Given the description of an element on the screen output the (x, y) to click on. 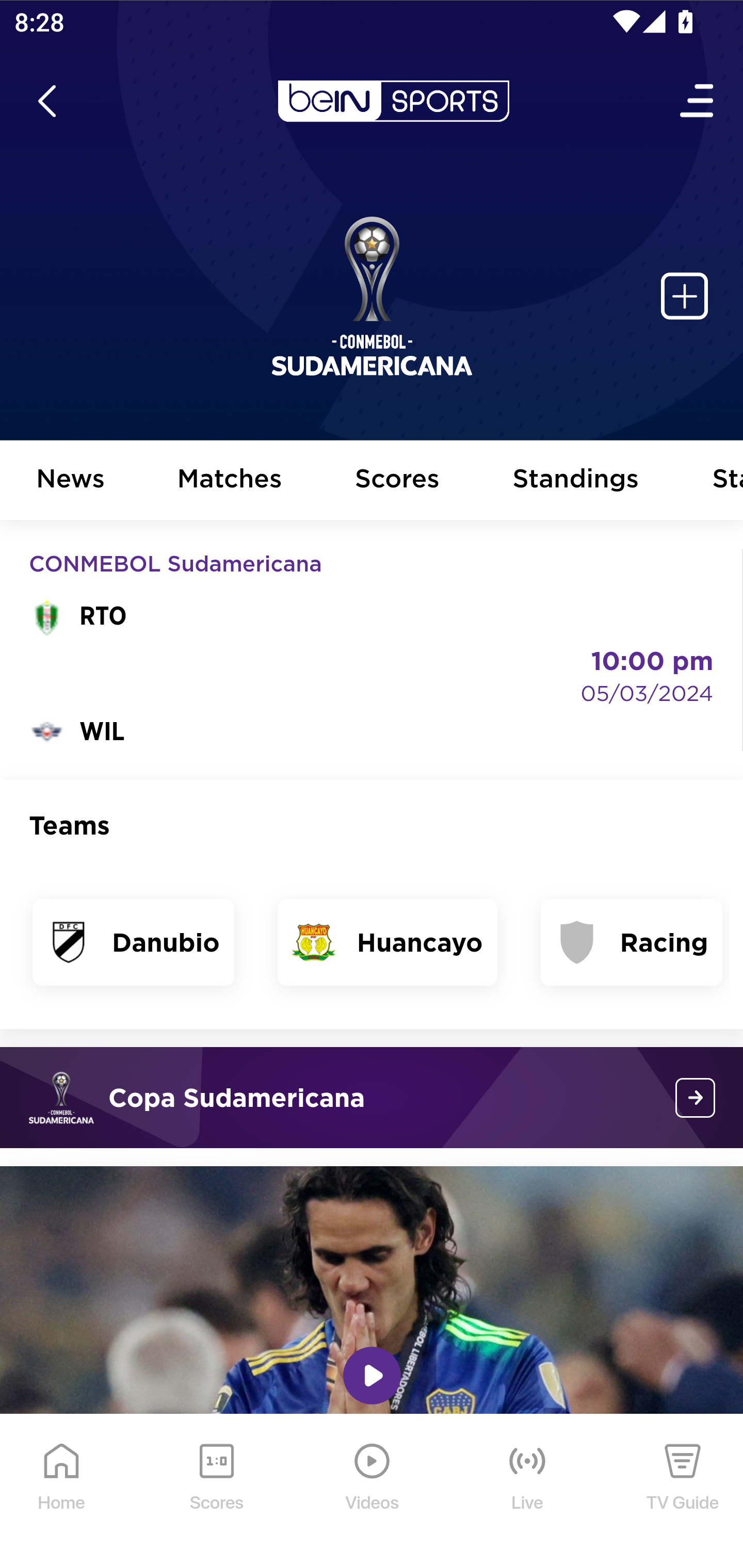
en-us?platform=mobile_android bein logo white (392, 101)
icon back (46, 101)
Open Menu Icon (697, 101)
News (70, 480)
Matches (229, 480)
Scores (397, 480)
Standings (575, 480)
Danubio Danubio Danubio (133, 740)
Home Home Icon Home (61, 1491)
Scores Scores Icon Scores (216, 1491)
Videos Videos Icon Videos (372, 1491)
TV Guide TV Guide Icon TV Guide (682, 1491)
